Given the description of an element on the screen output the (x, y) to click on. 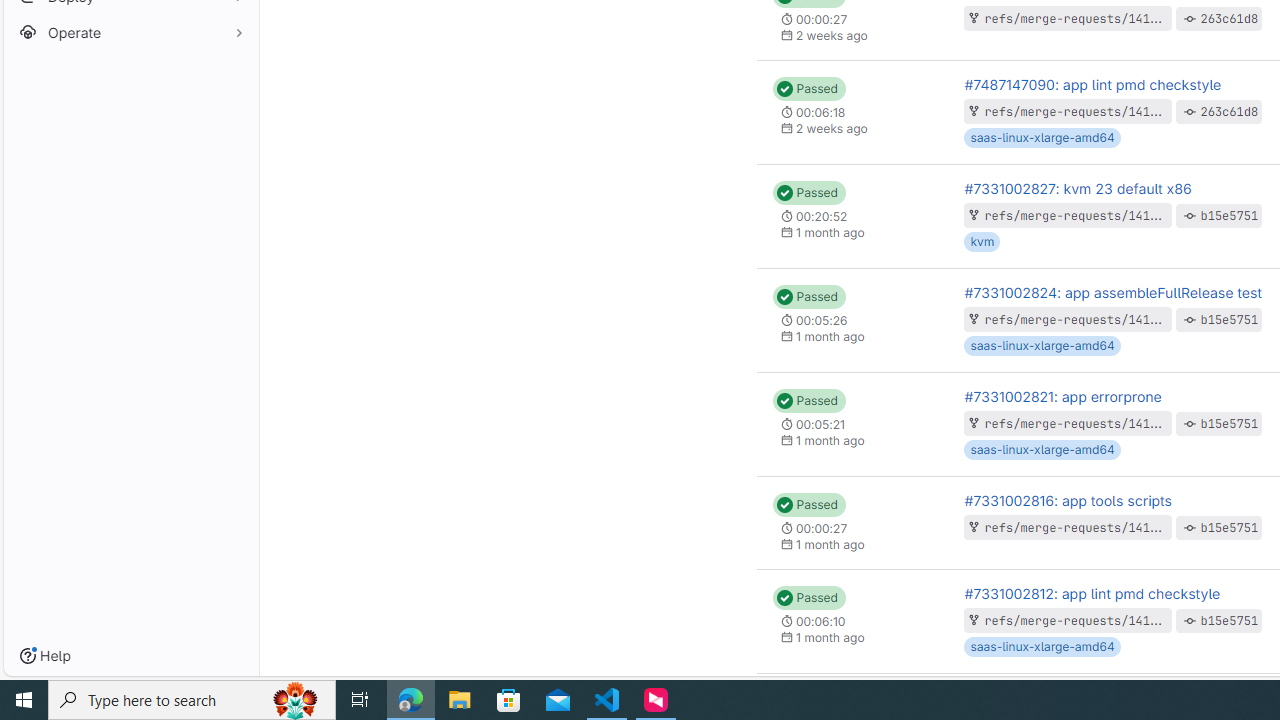
263c61d8 (1229, 111)
Status: Passed (808, 597)
Status: Passed 00:20:52 1 month ago (852, 216)
#7331002821: app errorprone (1062, 396)
Operate (130, 31)
